Given the description of an element on the screen output the (x, y) to click on. 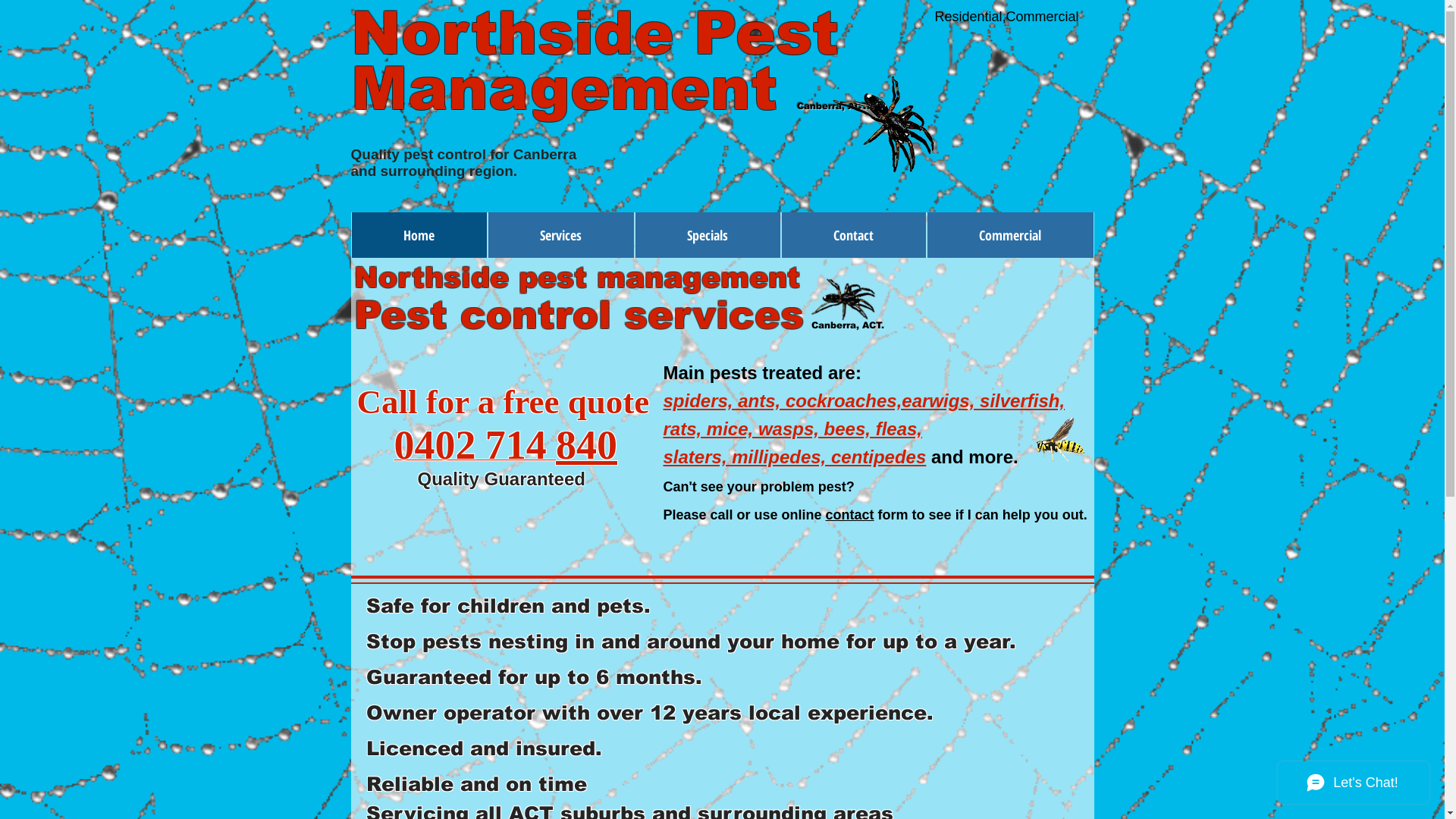
contact Element type: text (849, 514)
0402 714 840 Element type: text (506, 455)
Commercial Element type: text (1009, 234)
Specials Element type: text (707, 234)
Services Element type: text (560, 234)
Contact Element type: text (853, 234)
Home Element type: text (418, 234)
